Given the description of an element on the screen output the (x, y) to click on. 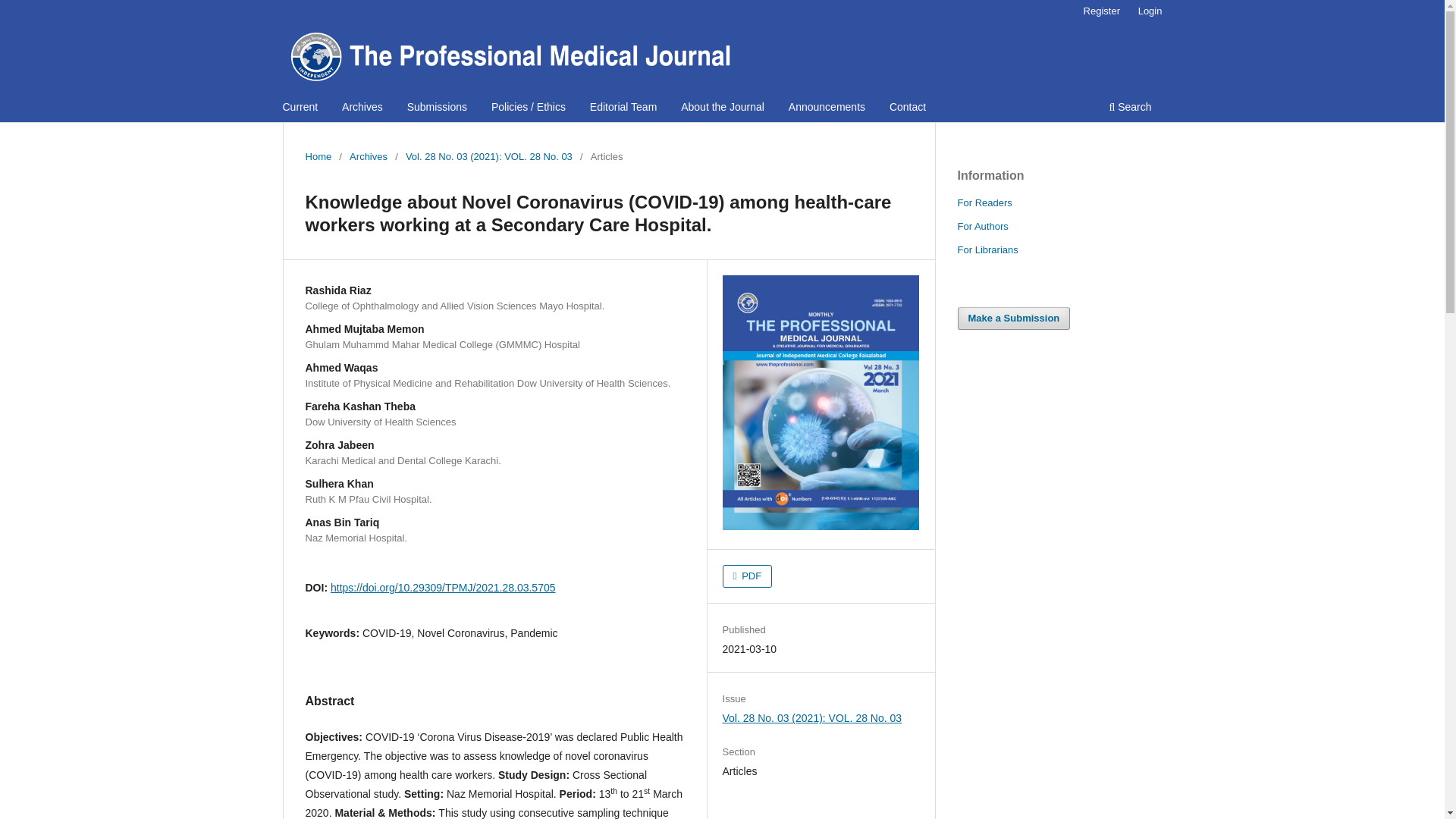
Search (1129, 108)
Editorial Team (623, 108)
Register (1100, 11)
PDF (747, 576)
Contact (907, 108)
For Readers (983, 202)
Current (300, 108)
Archives (368, 156)
Home (317, 156)
Login (1150, 11)
Make a Submission (1013, 318)
For Authors (981, 225)
Archives (362, 108)
About the Journal (722, 108)
Submissions (436, 108)
